Given the description of an element on the screen output the (x, y) to click on. 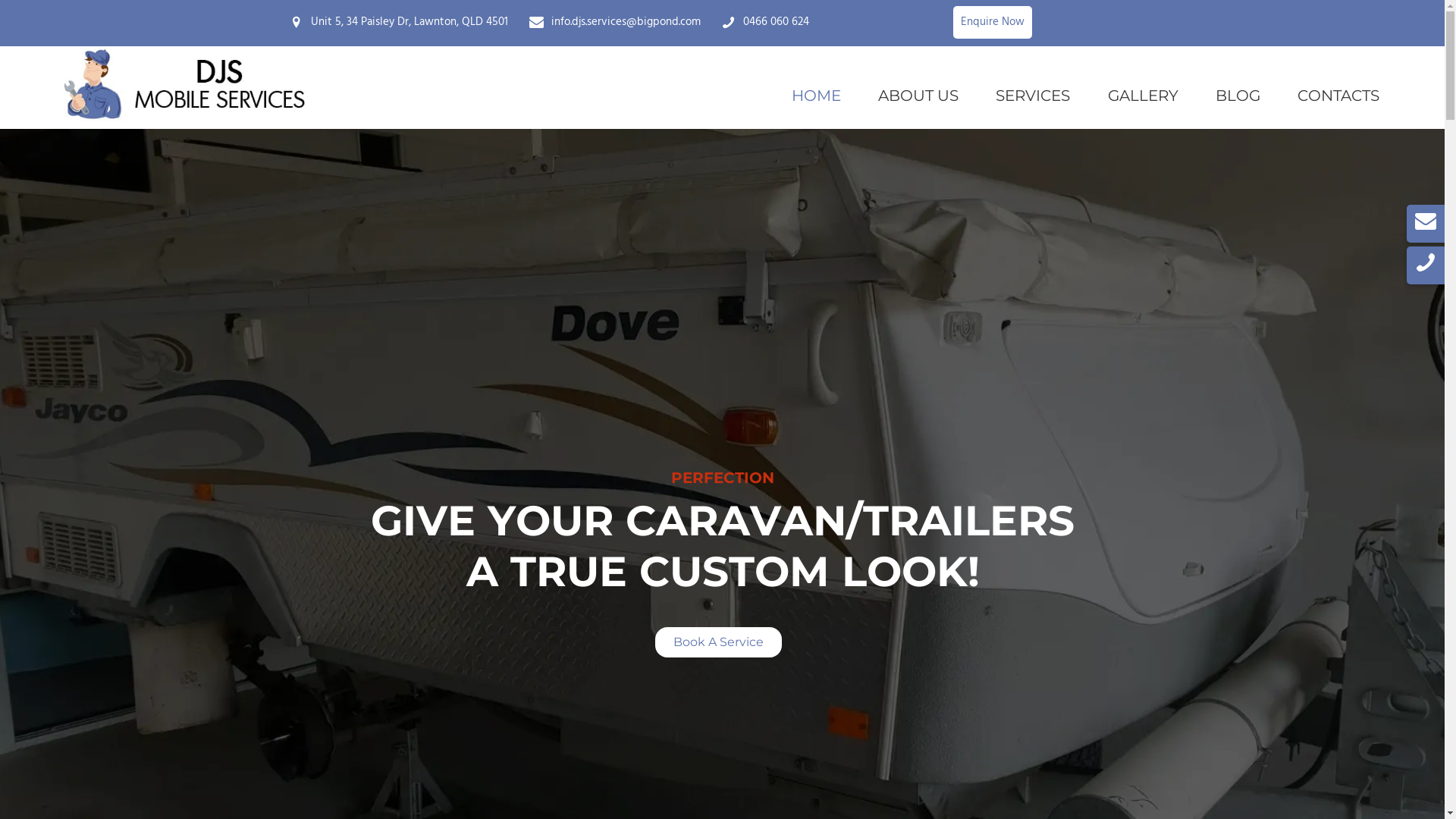
SERVICES Element type: text (1032, 95)
GALLERY Element type: text (1142, 95)
info.djs.services@bigpond.com Element type: text (625, 21)
HOME Element type: text (815, 95)
0466 060 624 Element type: text (776, 21)
BLOG Element type: text (1237, 95)
Unit 5, 34 Paisley Dr, Lawnton, QLD 4501 Element type: text (409, 21)
ABOUT US Element type: text (918, 95)
Book A Service Element type: text (718, 642)
CONTACTS Element type: text (1337, 95)
Enquire Now Element type: text (992, 21)
